Given the description of an element on the screen output the (x, y) to click on. 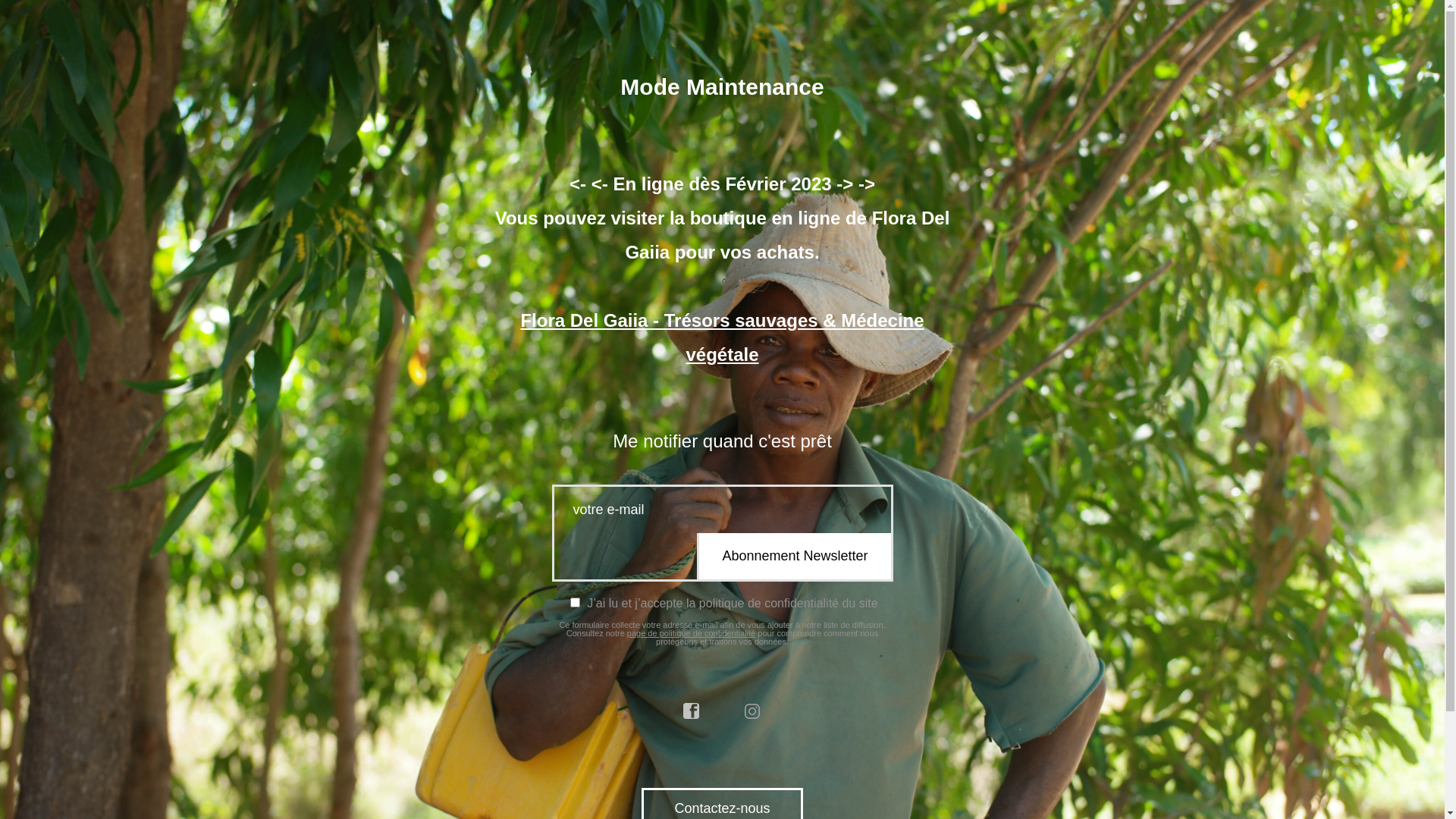
Abonnement Newsletter Element type: text (793, 556)
facebook Element type: text (691, 710)
instagram Element type: text (752, 710)
